Given the description of an element on the screen output the (x, y) to click on. 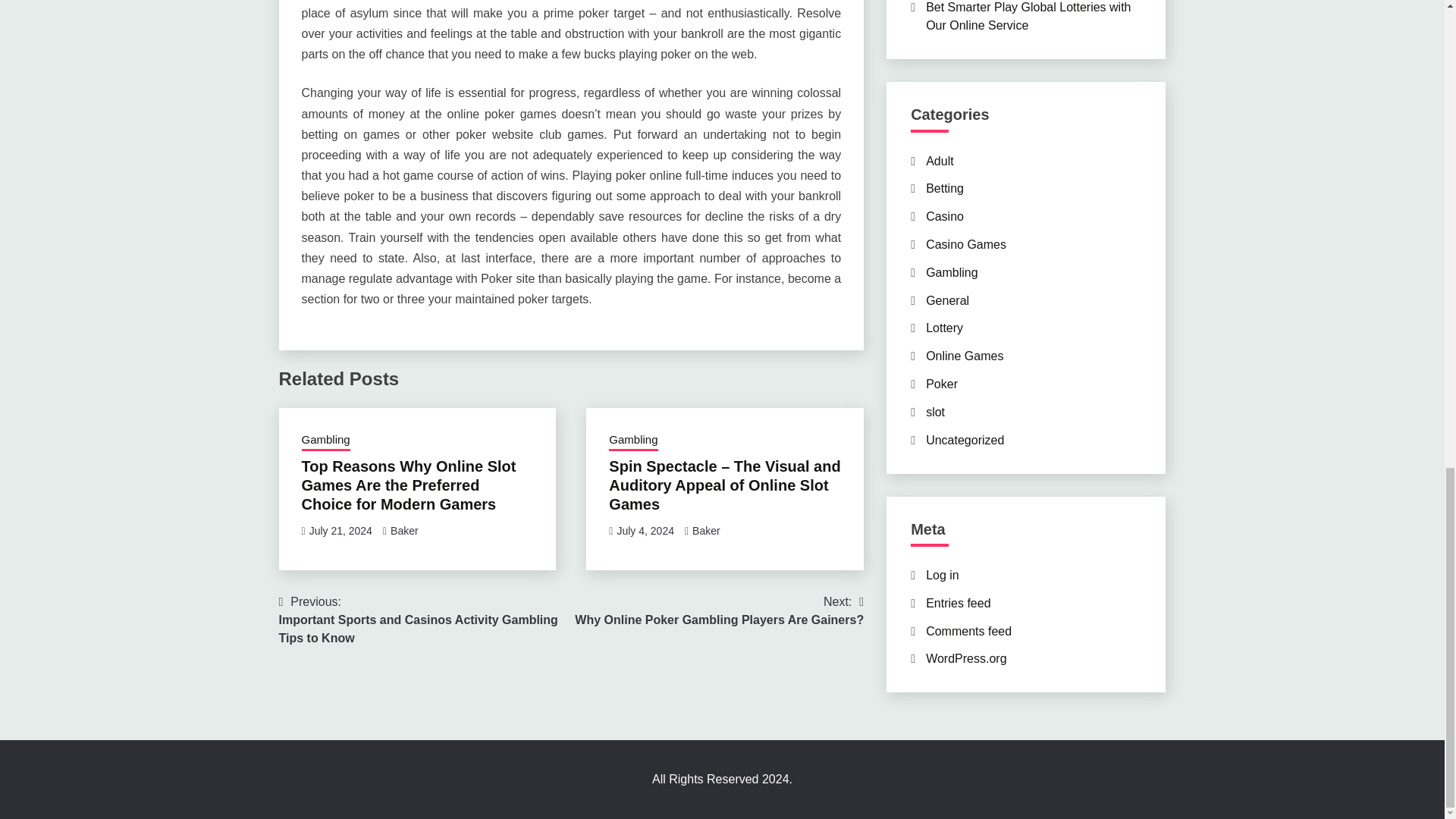
Casino Games (966, 244)
Baker (404, 530)
Gambling (633, 441)
Casino (944, 215)
Gambling (951, 272)
July 4, 2024 (644, 530)
Betting (944, 187)
Baker (706, 530)
